Given the description of an element on the screen output the (x, y) to click on. 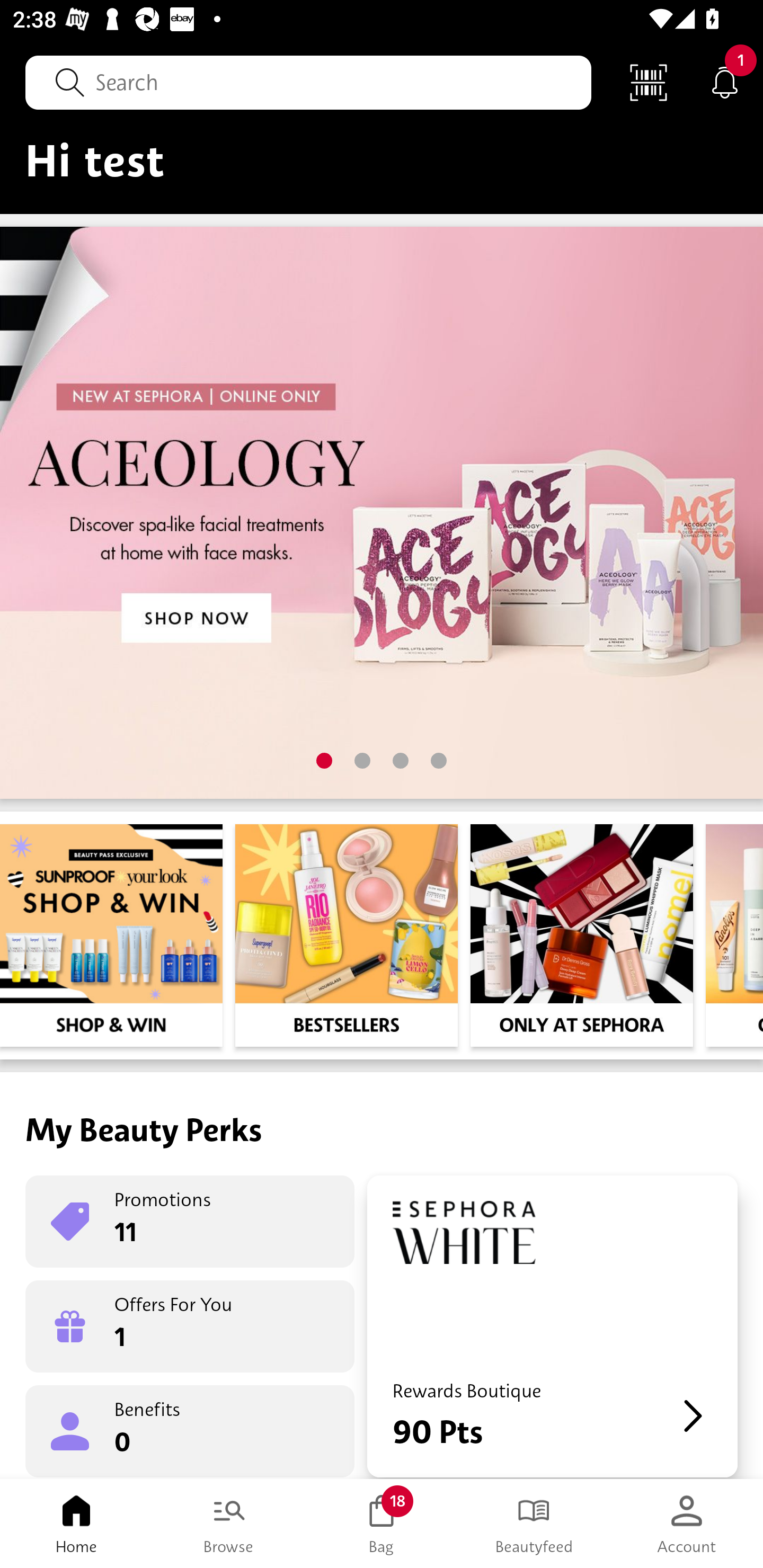
Scan Code (648, 81)
Notifications (724, 81)
Search (308, 81)
Promotions 11 (189, 1221)
Rewards Boutique 90 Pts (552, 1326)
Offers For You 1 (189, 1326)
Benefits 0 (189, 1430)
Browse (228, 1523)
Bag 18 Bag (381, 1523)
Beautyfeed (533, 1523)
Account (686, 1523)
